Given the description of an element on the screen output the (x, y) to click on. 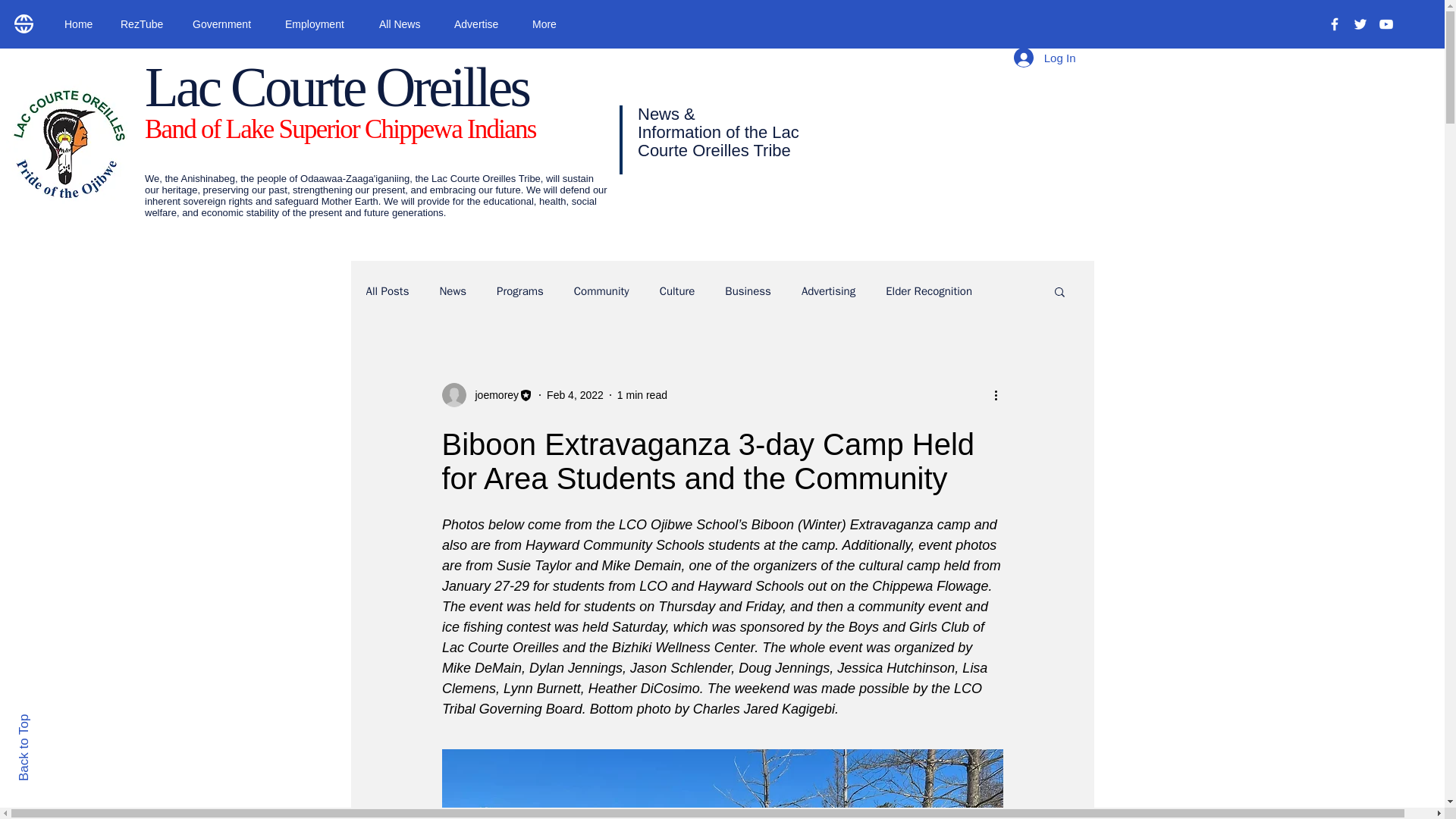
1 min read (641, 394)
Employment (320, 24)
Log In (1044, 57)
Advertise (481, 24)
Lac Courte Oreilles (336, 86)
Government (226, 24)
Home (80, 24)
RezTube (144, 24)
News (452, 290)
joemorey (491, 394)
All News (405, 24)
Programs (519, 290)
All Posts (387, 290)
Feb 4, 2022 (575, 394)
